Given the description of an element on the screen output the (x, y) to click on. 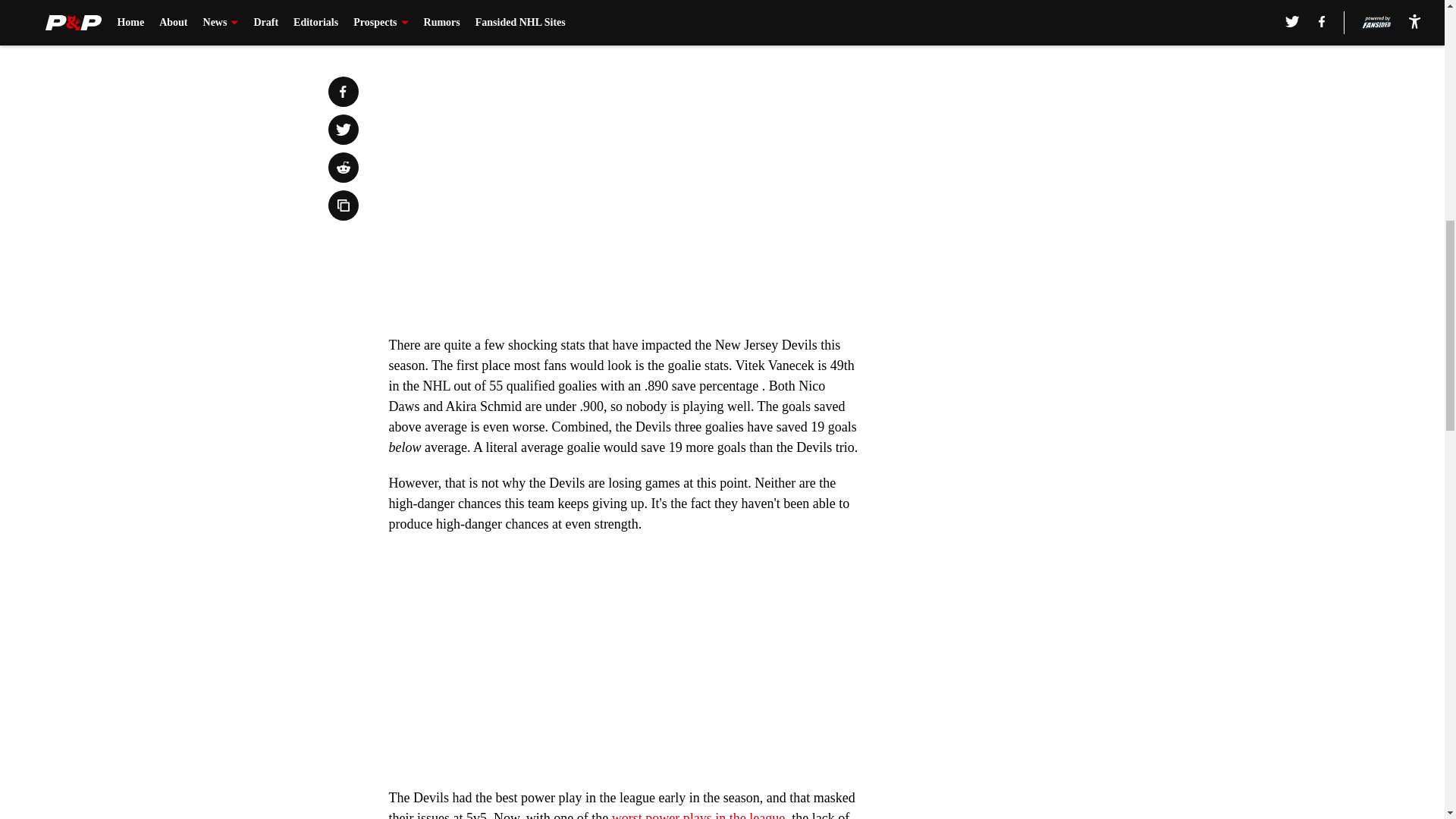
worst power plays in the league (697, 814)
